Given the description of an element on the screen output the (x, y) to click on. 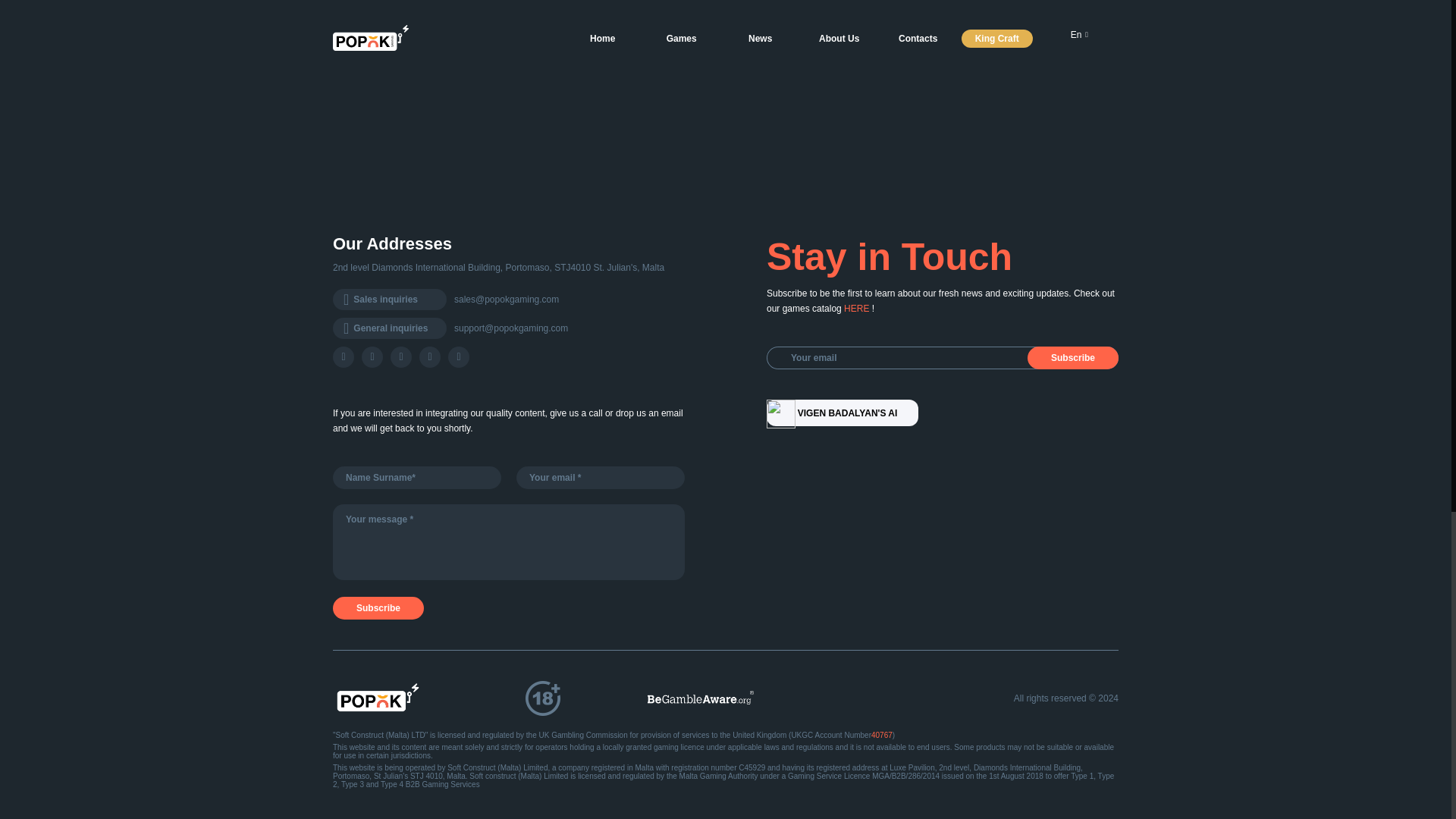
Subscribe (378, 608)
Subscribe (1072, 357)
HERE (856, 308)
VIGEN BADALYAN'S AI (831, 412)
40767 (881, 735)
